Given the description of an element on the screen output the (x, y) to click on. 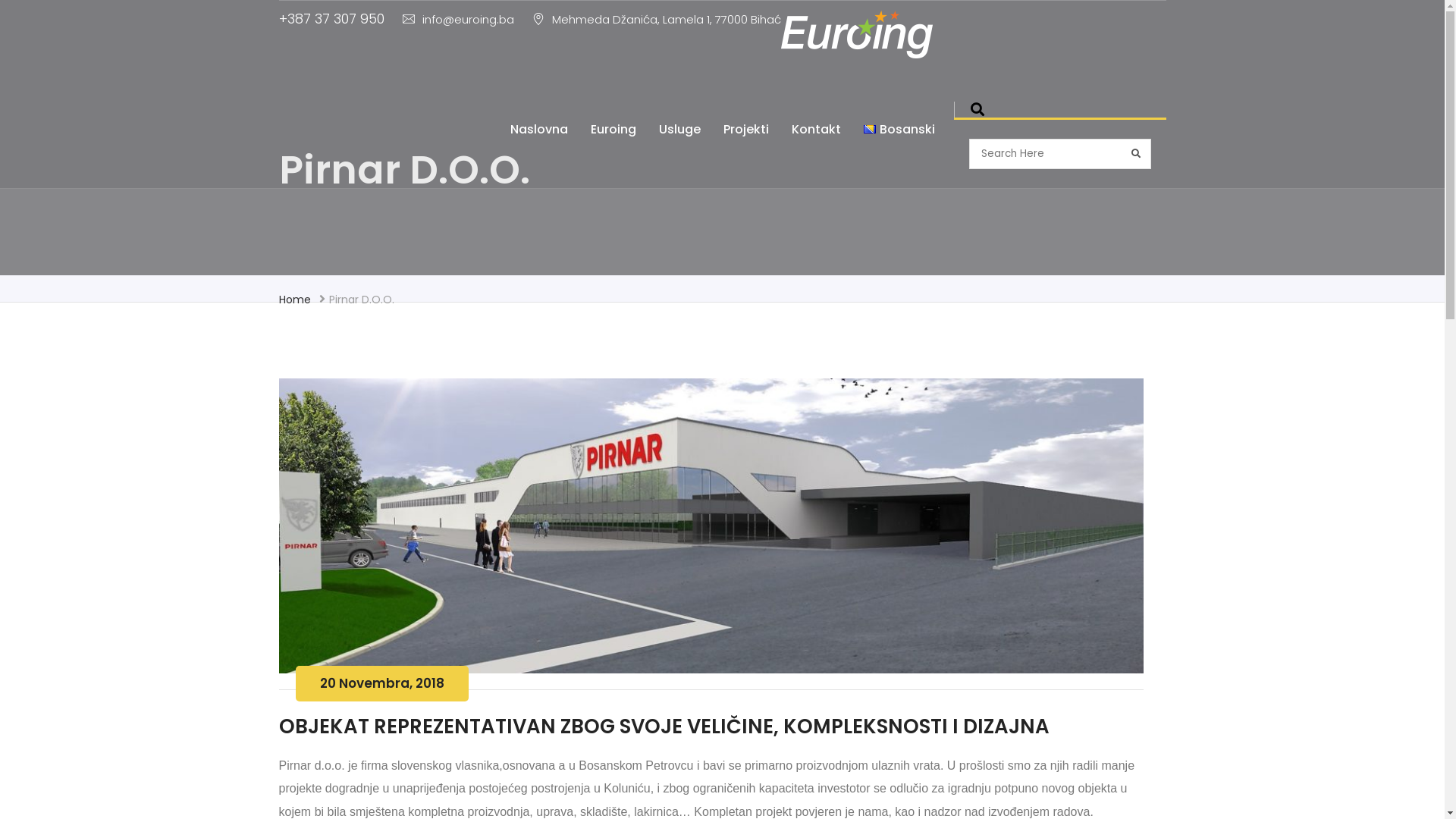
info@euroing.ba Element type: text (457, 19)
+387 37 307 950 Element type: text (331, 18)
Home Element type: text (294, 299)
Usluge Element type: text (679, 129)
Euroing Element type: text (613, 129)
Projekti Element type: text (745, 129)
Bosanski Element type: text (899, 129)
Kontakt Element type: text (815, 129)
Naslovna Element type: text (538, 129)
Nortech Element type: hover (856, 34)
